Given the description of an element on the screen output the (x, y) to click on. 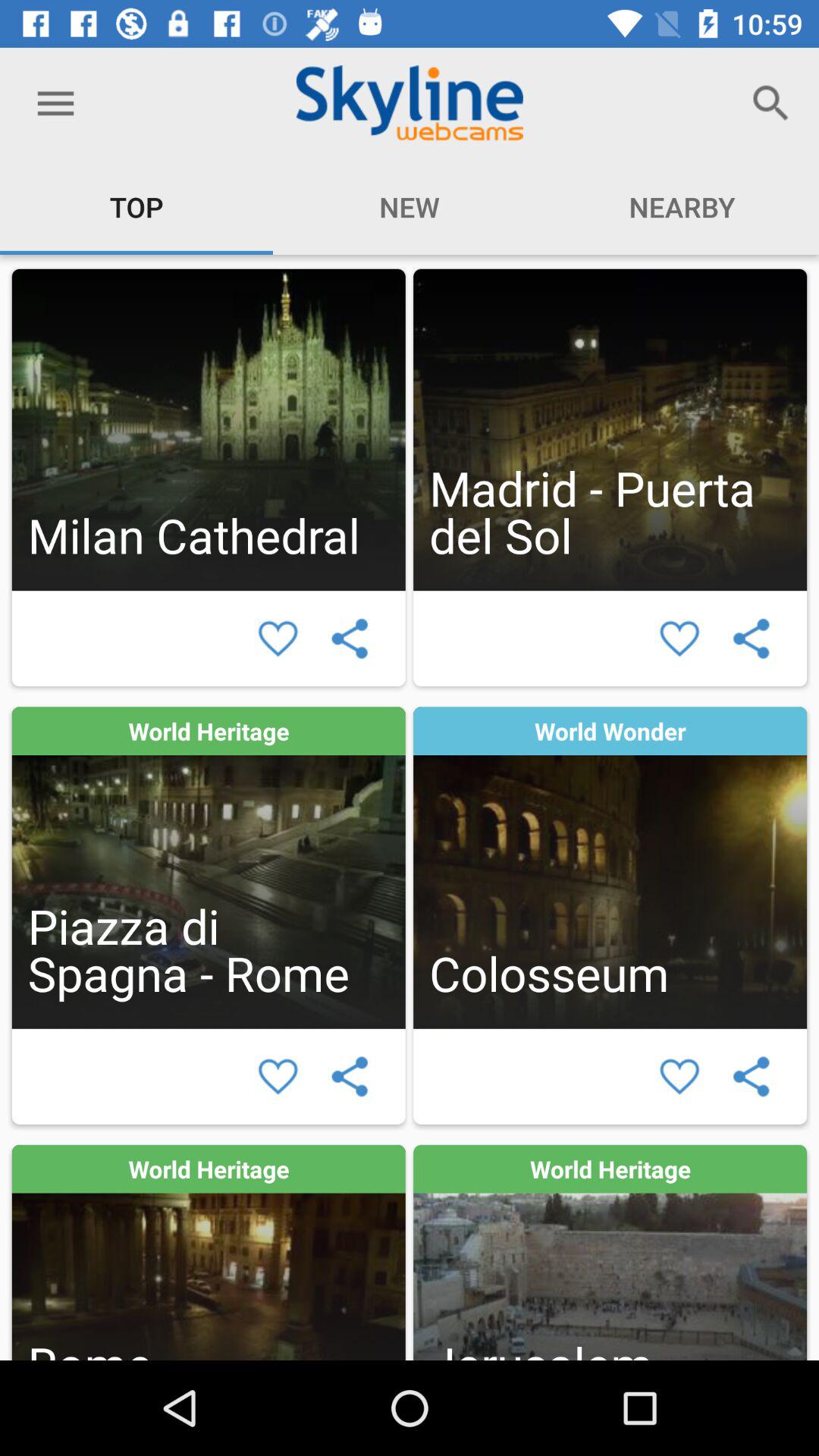
share selection (751, 638)
